Given the description of an element on the screen output the (x, y) to click on. 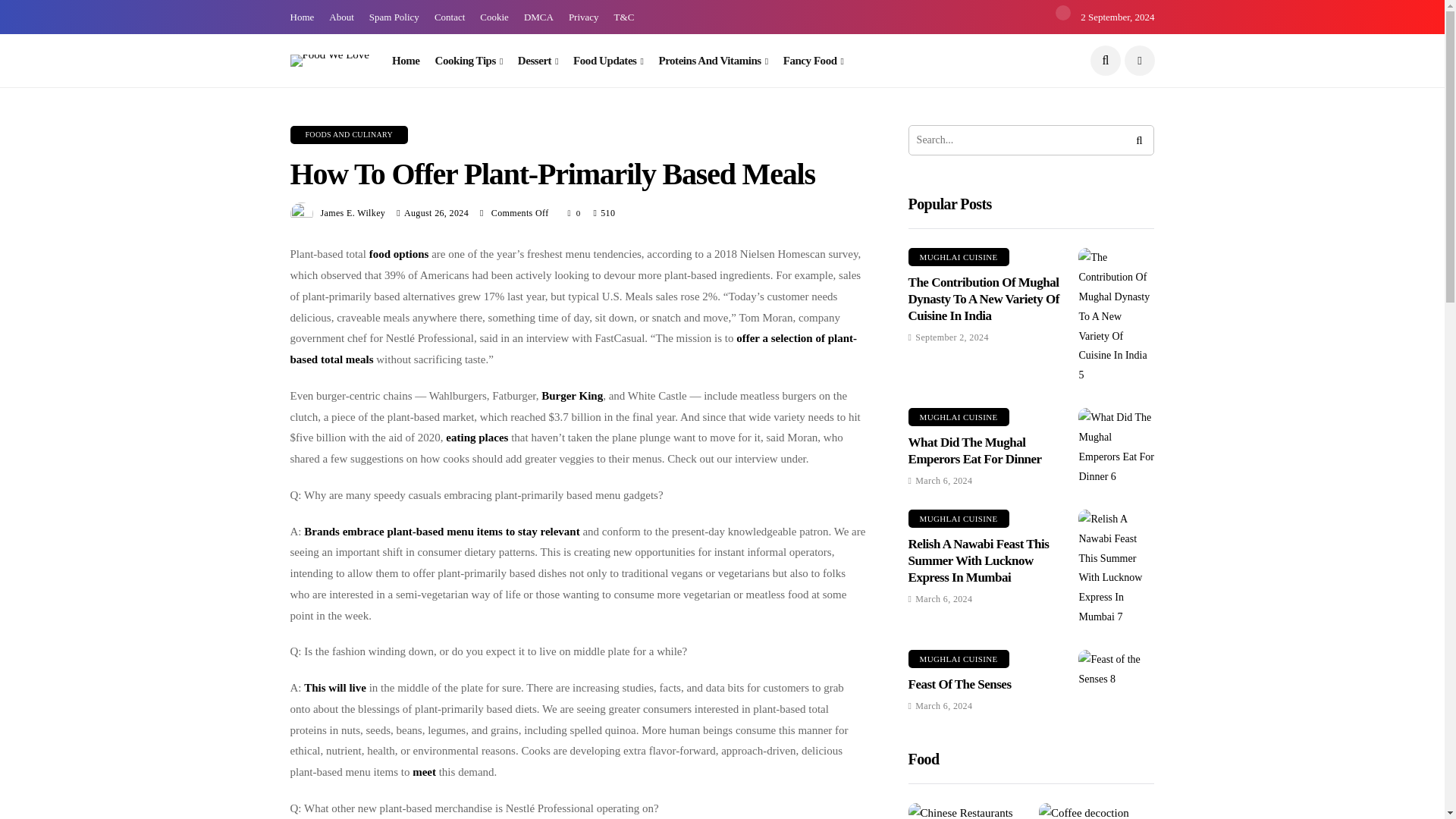
Like (574, 212)
Privacy (583, 17)
Cooking Tips (468, 60)
Food Updates (608, 60)
Spam Policy (394, 17)
Posts by James E. Wilkey (352, 213)
Fancy Food (813, 60)
Proteins And Vitamins (712, 60)
